Given the description of an element on the screen output the (x, y) to click on. 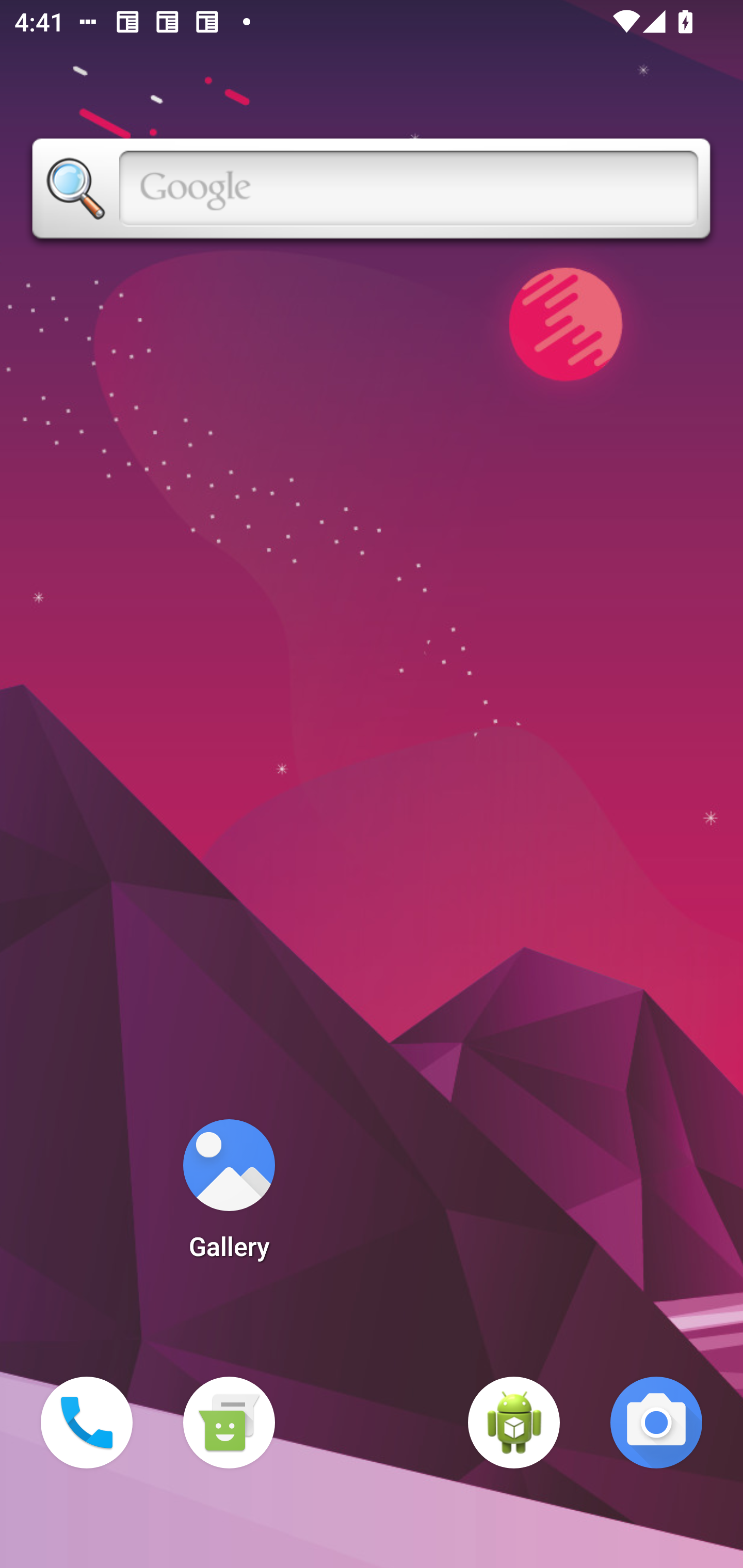
Gallery (228, 1195)
Phone (86, 1422)
Messaging (228, 1422)
WebView Browser Tester (513, 1422)
Camera (656, 1422)
